Given the description of an element on the screen output the (x, y) to click on. 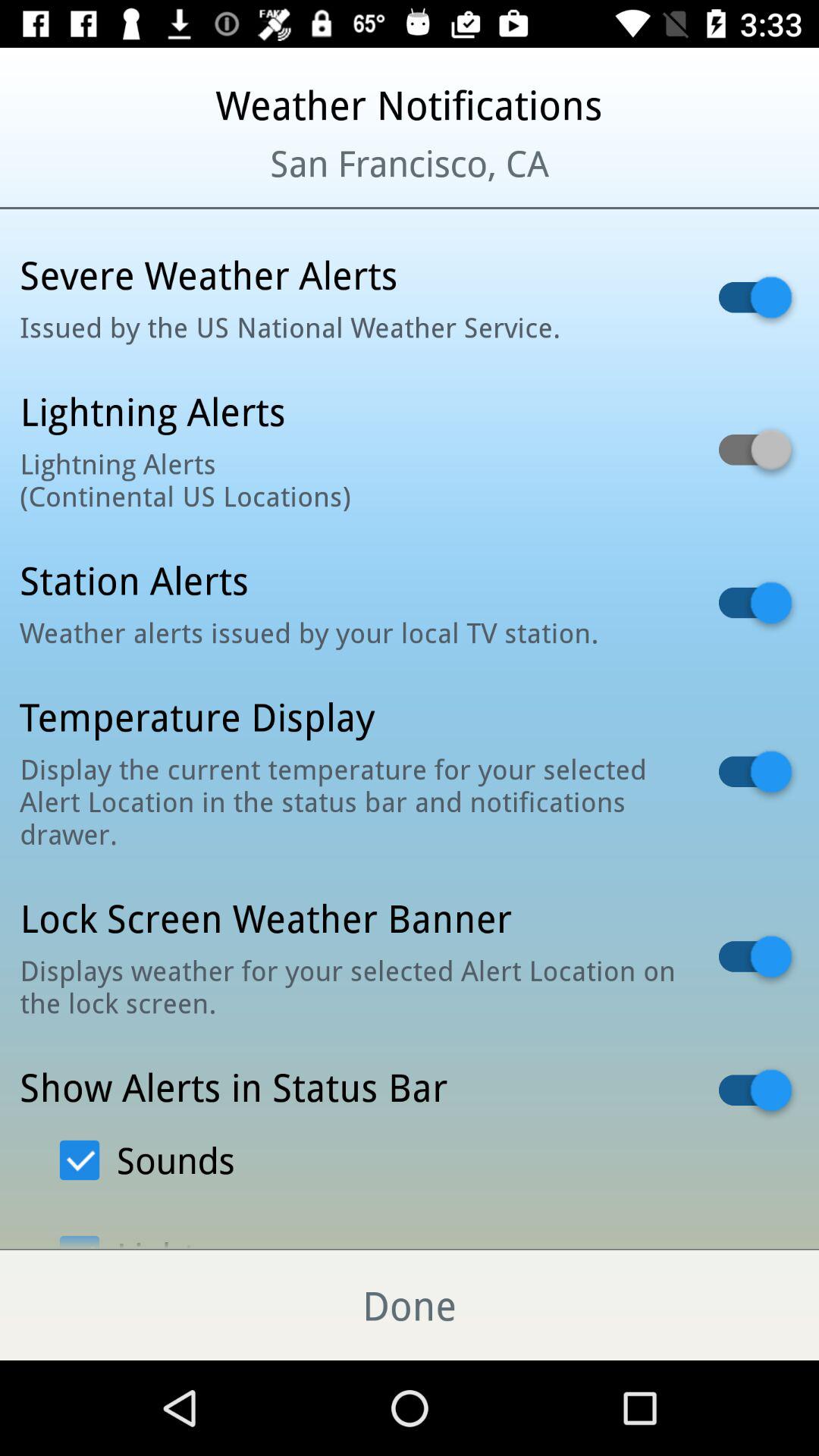
launch displays weather for icon (349, 986)
